Given the description of an element on the screen output the (x, y) to click on. 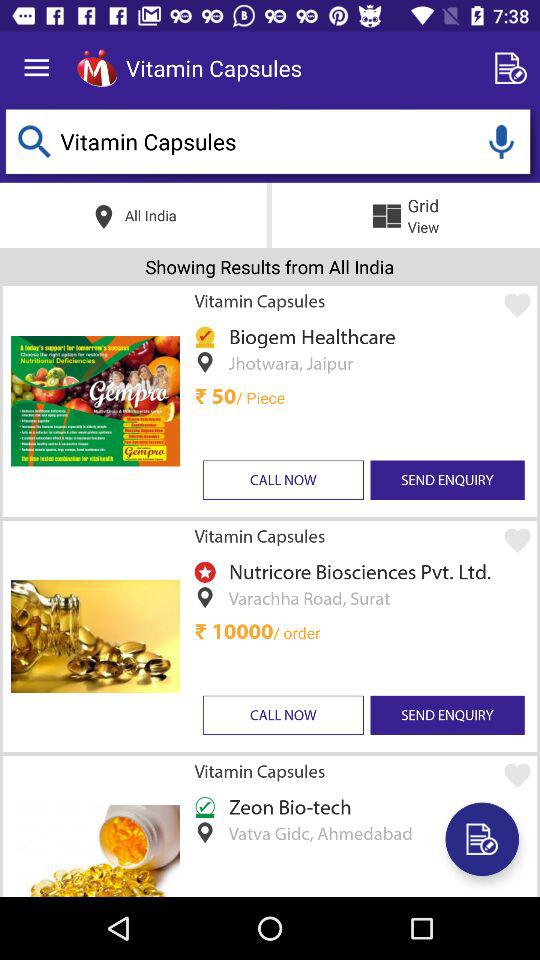
create listing (514, 68)
